Given the description of an element on the screen output the (x, y) to click on. 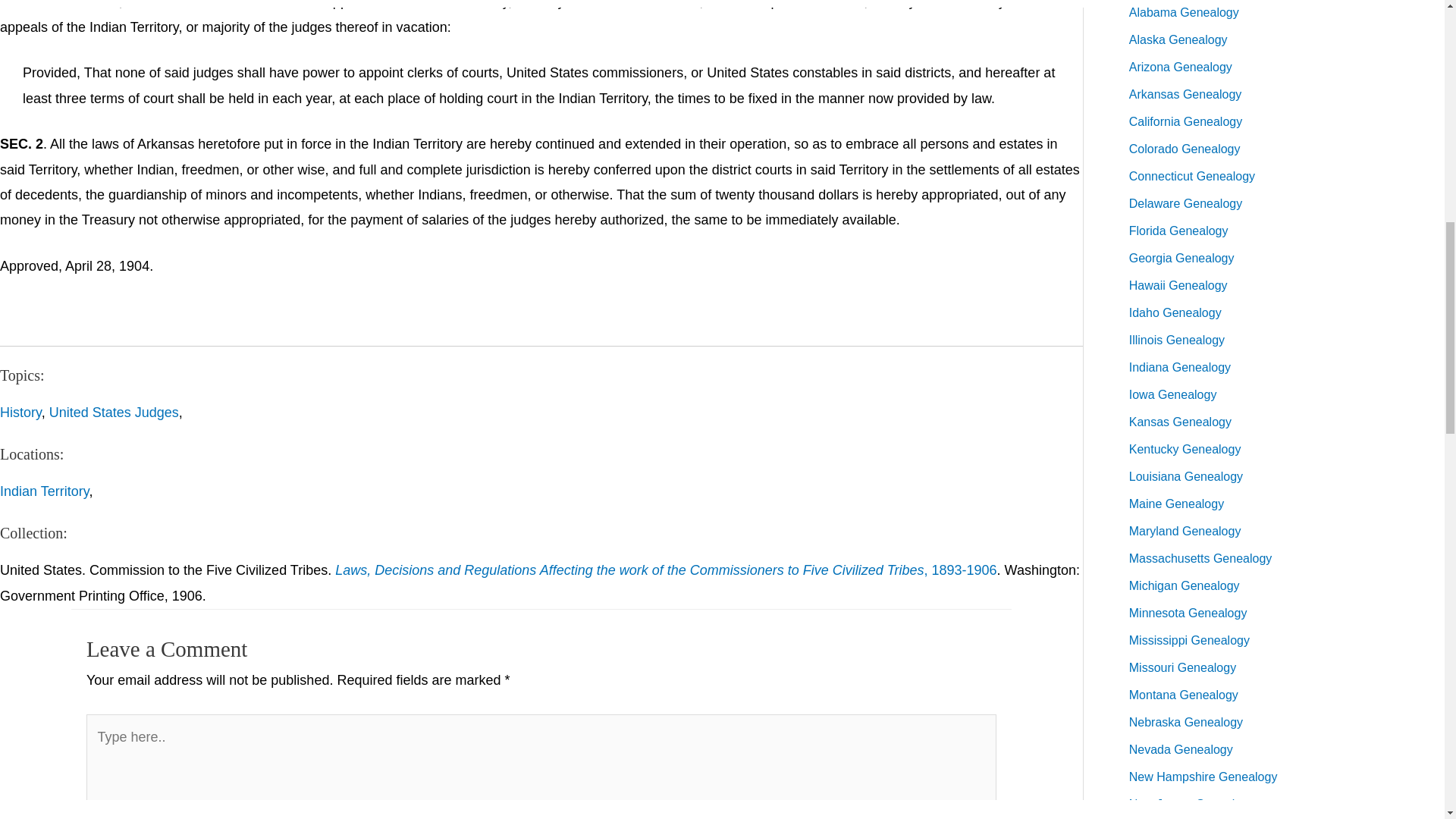
Arizona Genealogy (1180, 66)
Idaho Genealogy (1175, 312)
Hawaii Genealogy (1178, 285)
California Genealogy (1185, 121)
United States Judges (114, 412)
Arkansas Genealogy (1185, 93)
Alabama Genealogy (1184, 11)
Alabama Genealogy (1184, 11)
Delaware Genealogy (1185, 203)
Indian Territory (44, 491)
History (21, 412)
Florida Genealogy (1178, 230)
Arkansas Genealogy (1185, 93)
Alaska Genealogy (1178, 39)
